Given the description of an element on the screen output the (x, y) to click on. 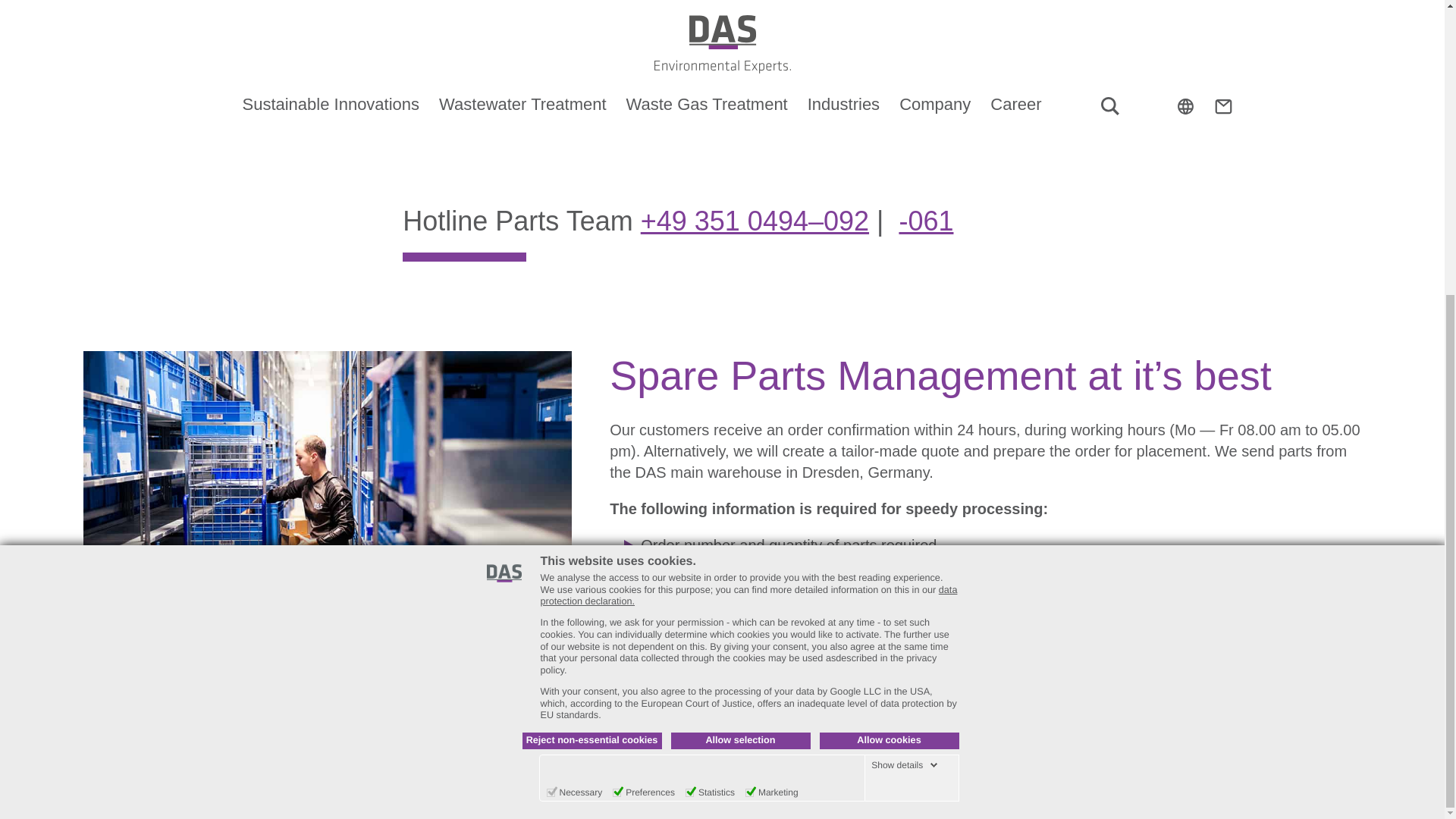
data protection declaration. (748, 142)
Show details (903, 311)
Allow cookies (888, 287)
Allow selection (739, 287)
Reject non-essential cookies (591, 287)
